Given the description of an element on the screen output the (x, y) to click on. 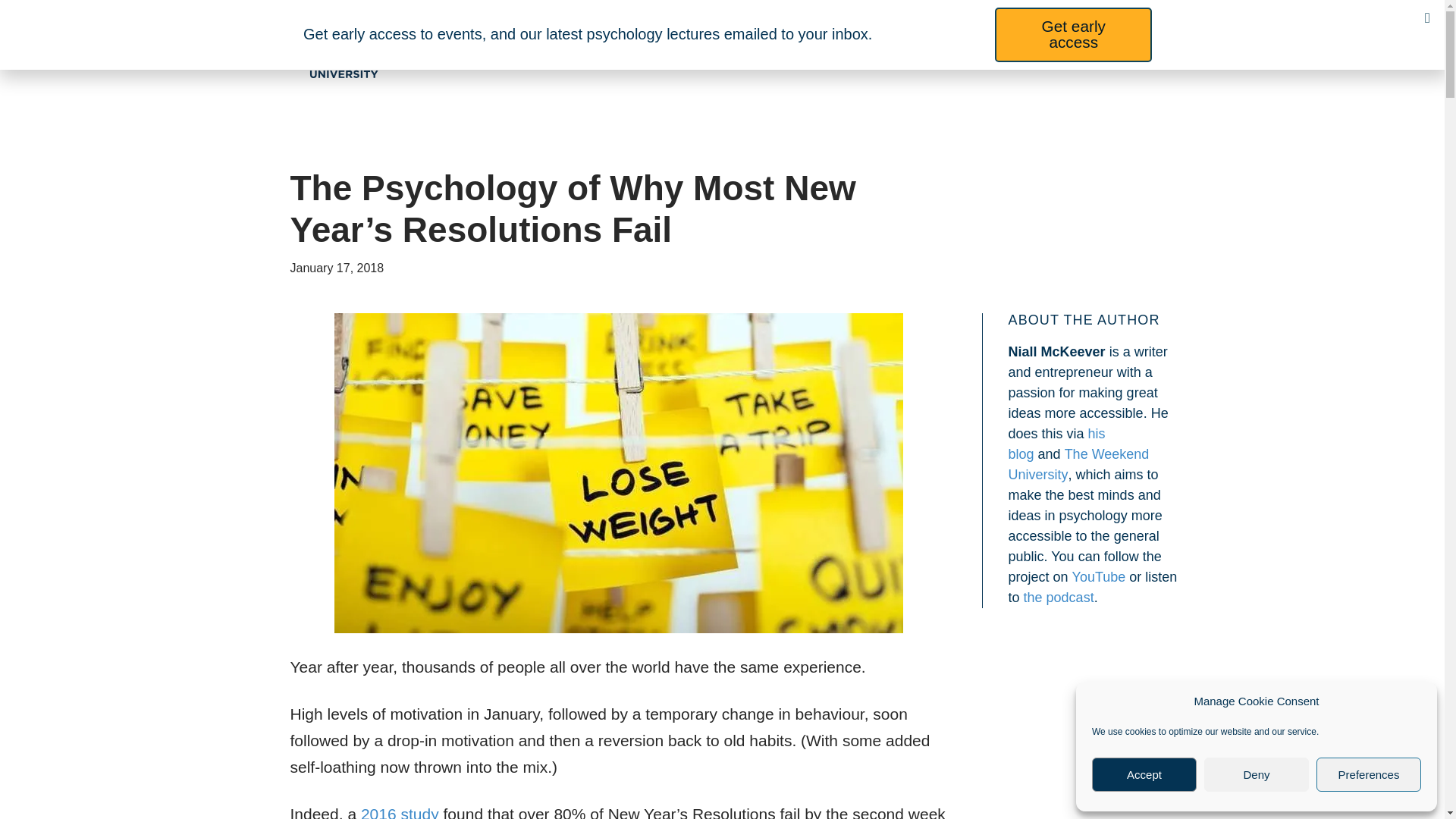
Preferences (1368, 774)
Accept (1144, 774)
Deny (1256, 774)
Blog (1038, 48)
Conference Library (919, 48)
8:46 AM (336, 267)
About (798, 48)
Sign In (1117, 48)
Summits (702, 48)
Courses (594, 48)
